Given the description of an element on the screen output the (x, y) to click on. 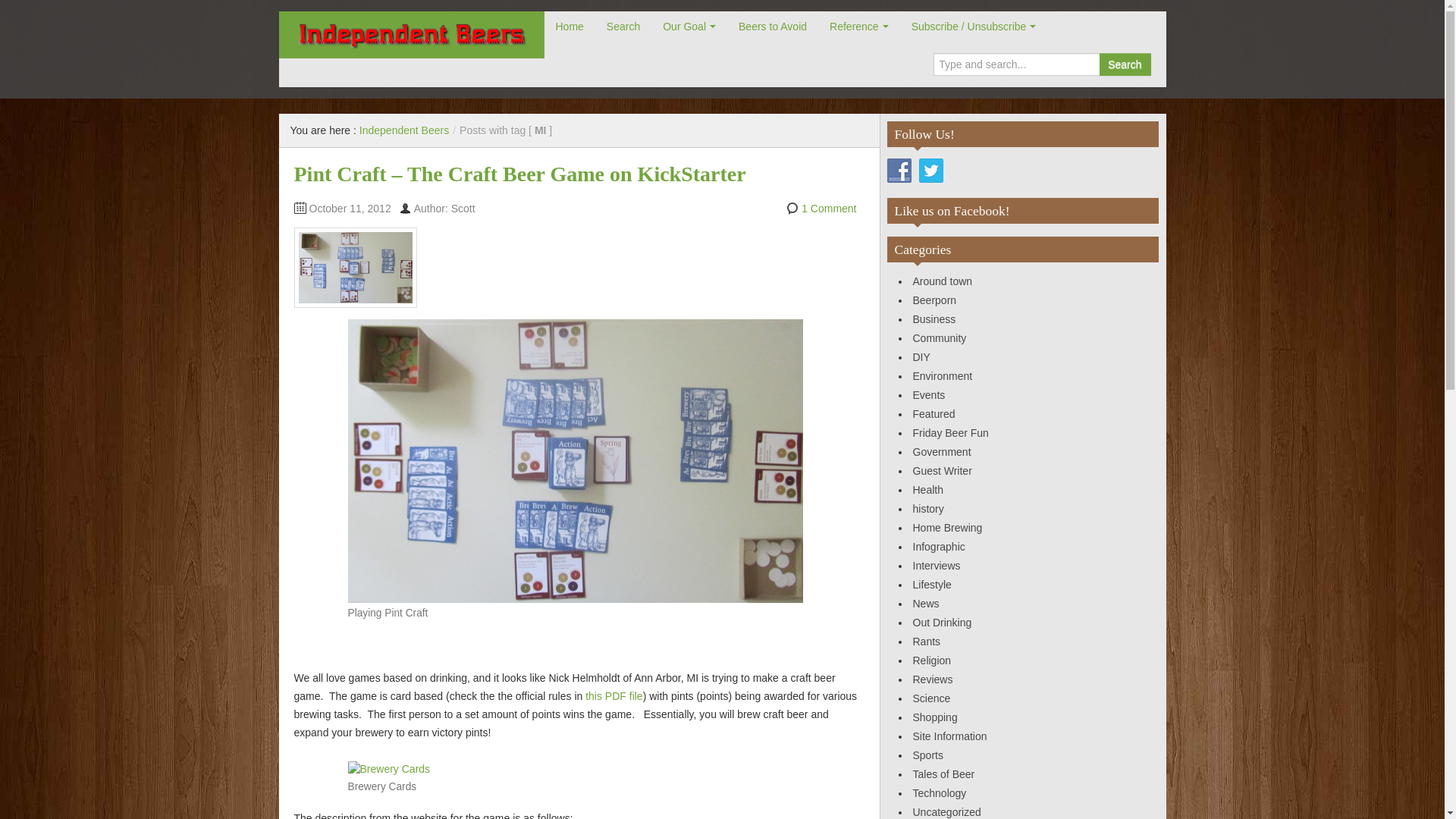
Follow Us on Twitter (930, 170)
Business (934, 318)
Government (941, 451)
Reference (858, 26)
Playing Pint Craft (574, 459)
Health (927, 490)
DIY (921, 357)
this PDF file (613, 695)
Search (1124, 64)
1 Comment (829, 208)
history (927, 508)
Around town (942, 281)
Beers to Avoid (772, 26)
Follow Us on Facebook (898, 170)
Independent Beers (403, 130)
